Given the description of an element on the screen output the (x, y) to click on. 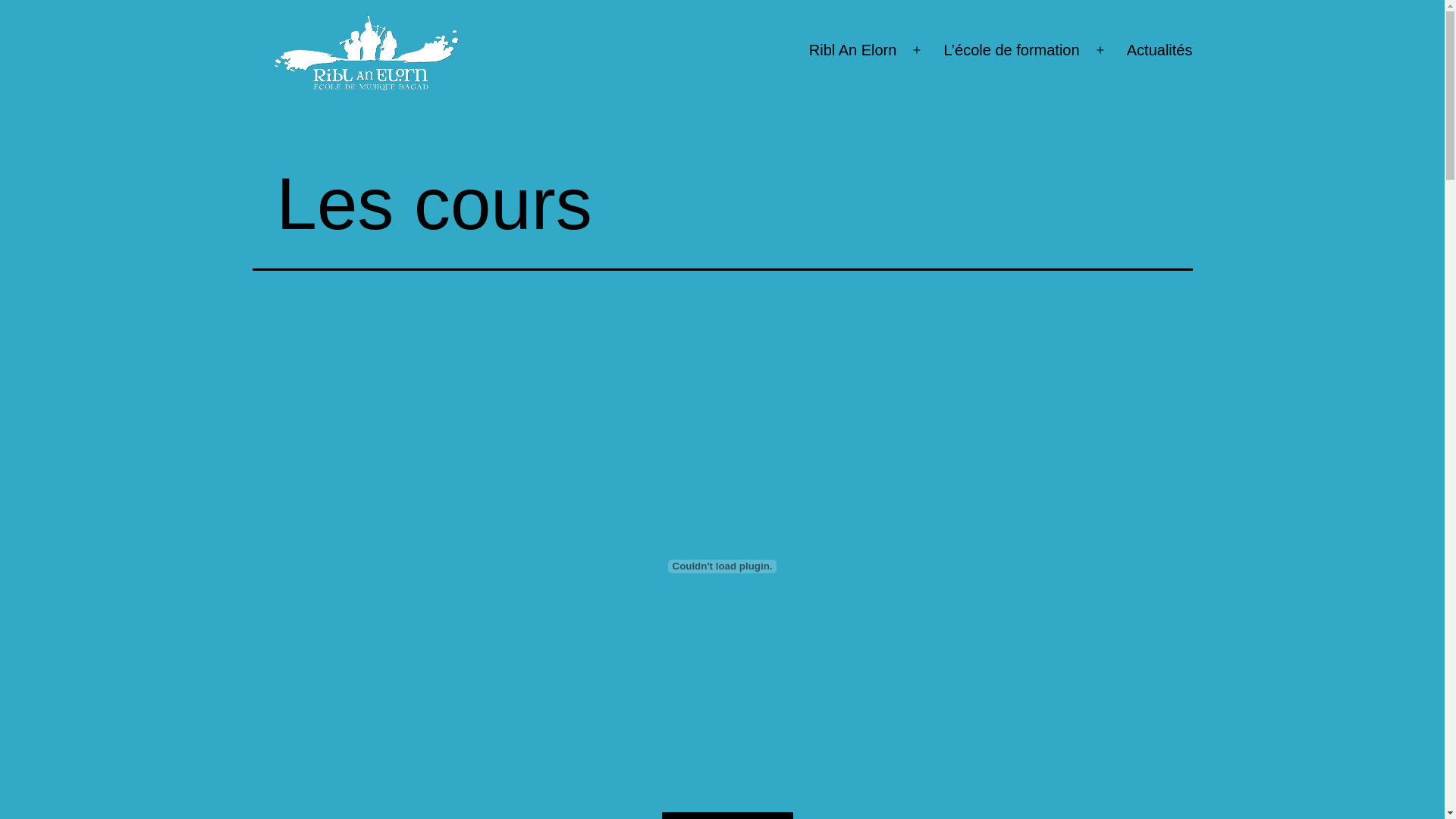
Ouvrir le menu Element type: text (916, 50)
Ribl An Elorn Element type: text (852, 50)
Ouvrir le menu Element type: text (1100, 50)
